Given the description of an element on the screen output the (x, y) to click on. 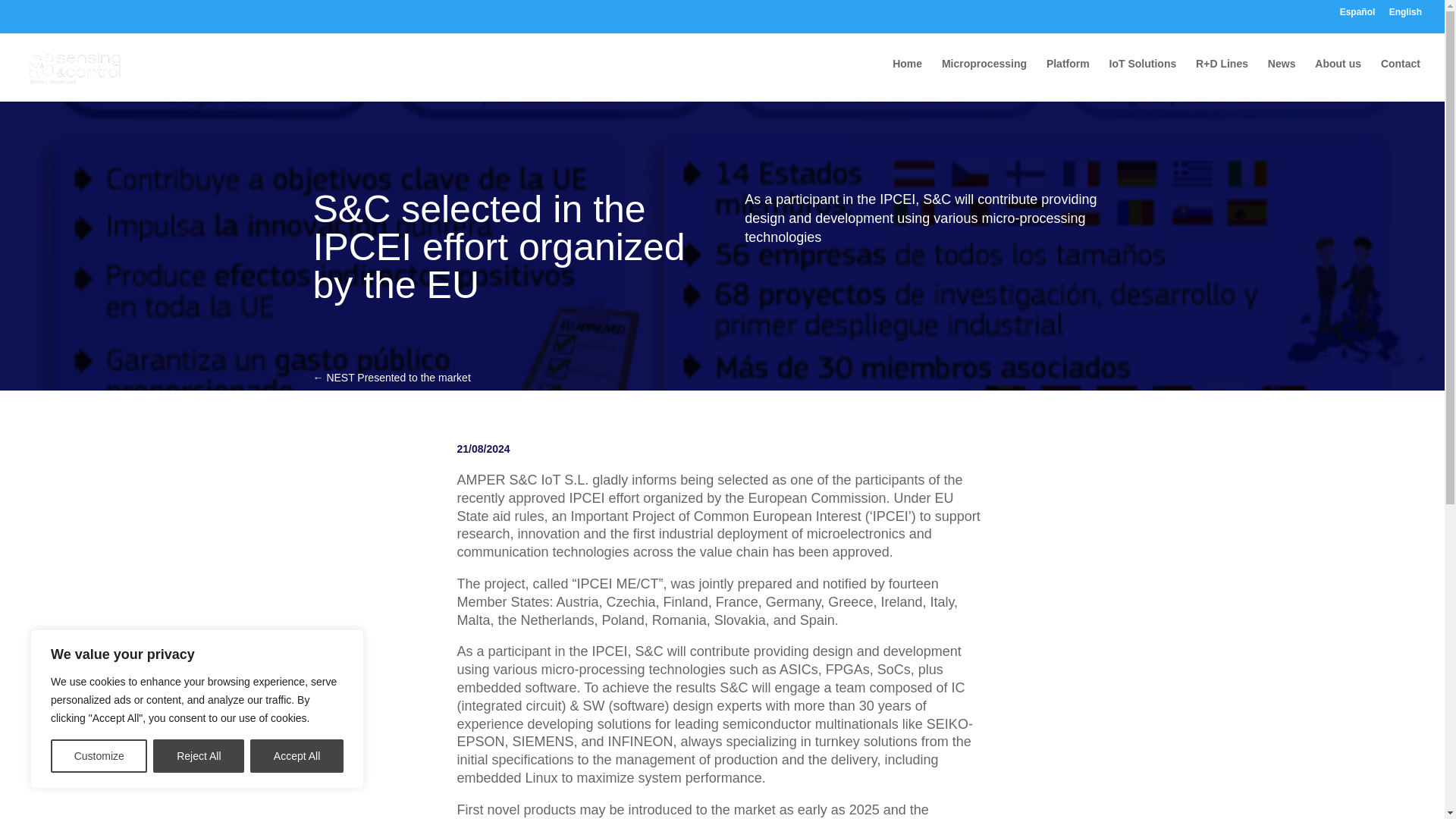
English (1405, 15)
IoT Solutions (1142, 76)
Microprocessing (984, 76)
Contact (1400, 76)
About us (1337, 76)
Reject All (198, 756)
Platform (1067, 76)
Customize (98, 756)
Accept All (296, 756)
